Given the description of an element on the screen output the (x, y) to click on. 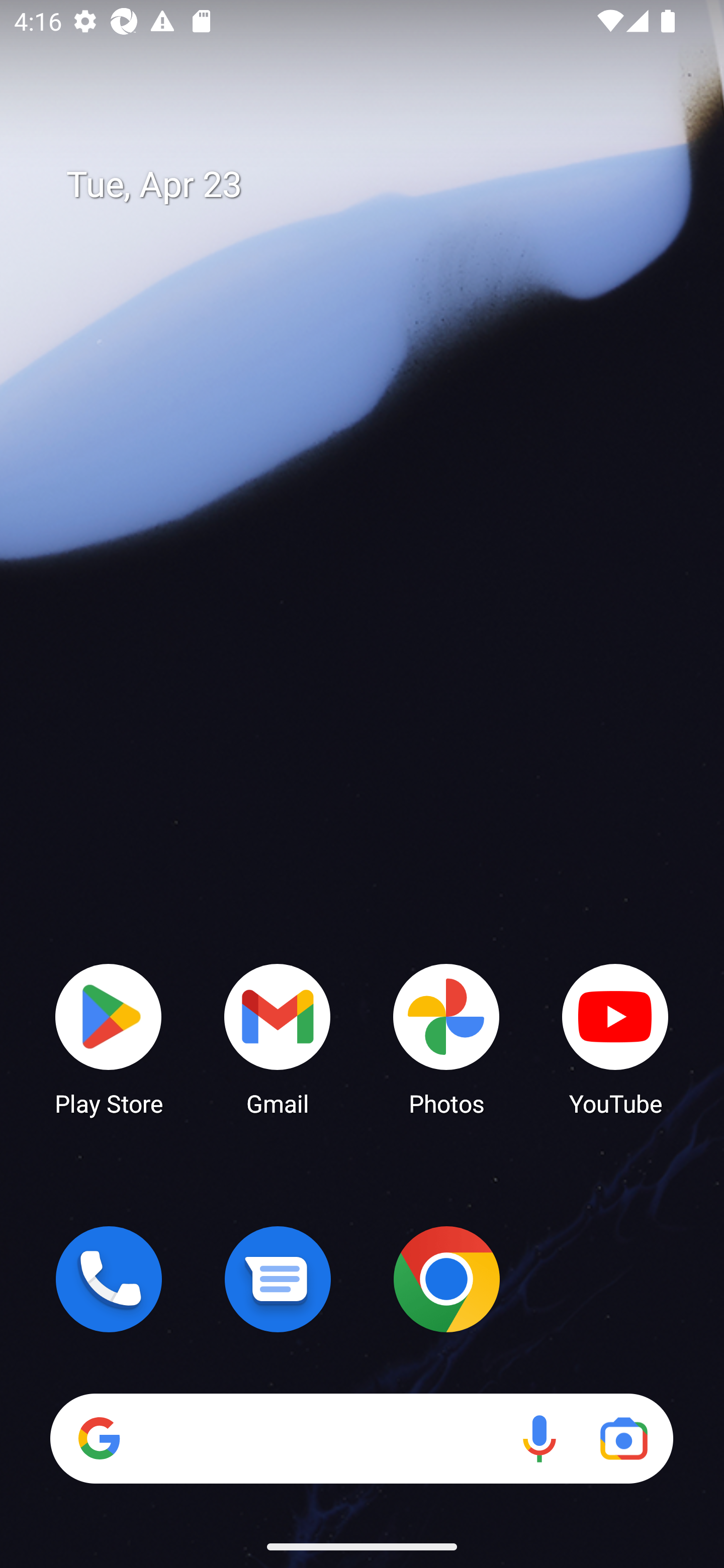
Tue, Apr 23 (375, 184)
Play Store (108, 1038)
Gmail (277, 1038)
Photos (445, 1038)
YouTube (615, 1038)
Phone (108, 1279)
Messages (277, 1279)
Chrome (446, 1279)
Search Voice search Google Lens (361, 1438)
Voice search (539, 1438)
Google Lens (623, 1438)
